Given the description of an element on the screen output the (x, y) to click on. 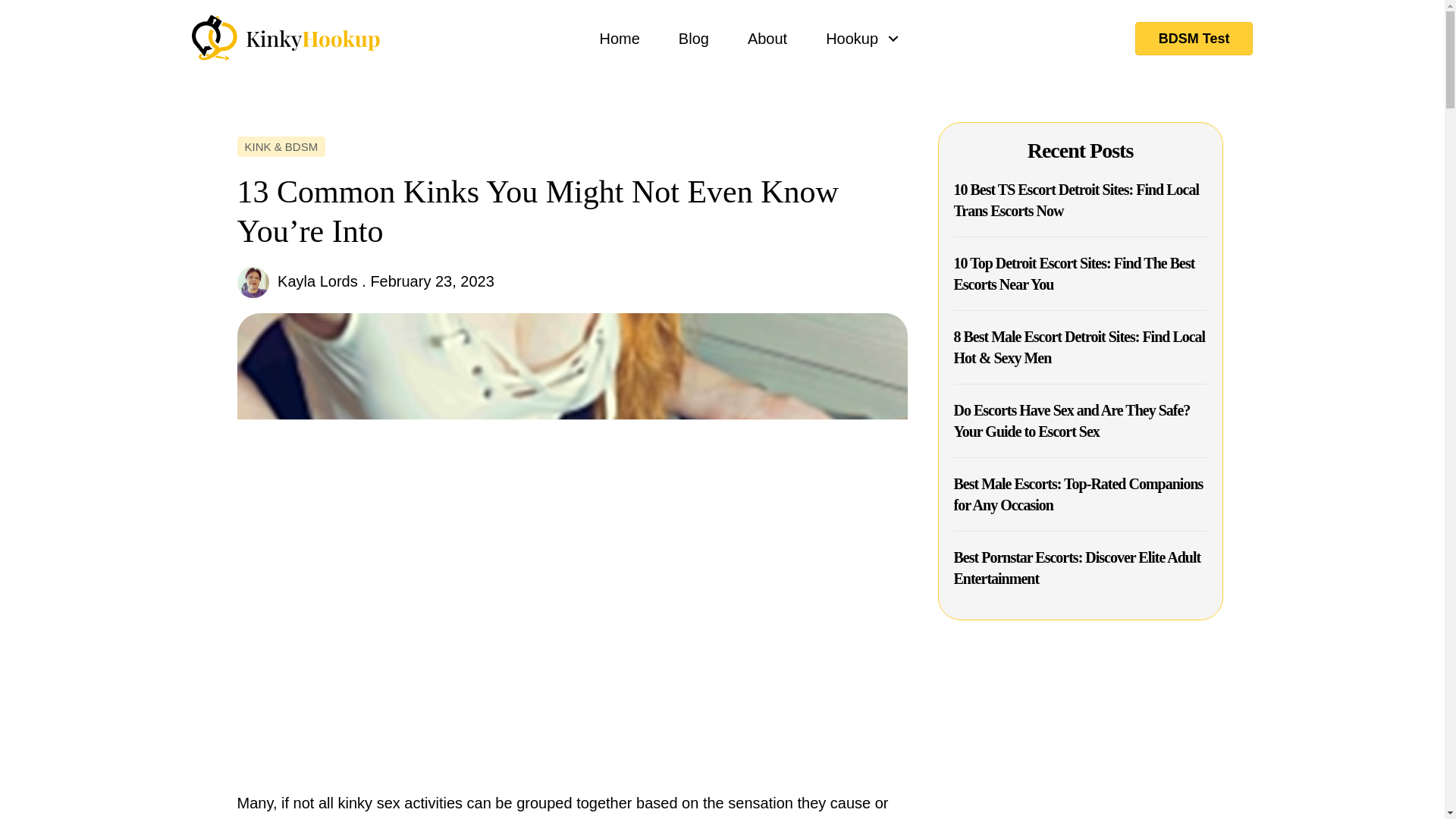
Best Pornstar Escorts: Discover Elite Adult Entertainment (1077, 567)
Blog (693, 37)
10 Top Detroit Escort Sites: Find The Best Escorts Near You (1074, 273)
Hookup (856, 37)
Best Pornstar Escorts: Discover Elite Adult Entertainment (1077, 567)
BDSM Test (1194, 37)
